Given the description of an element on the screen output the (x, y) to click on. 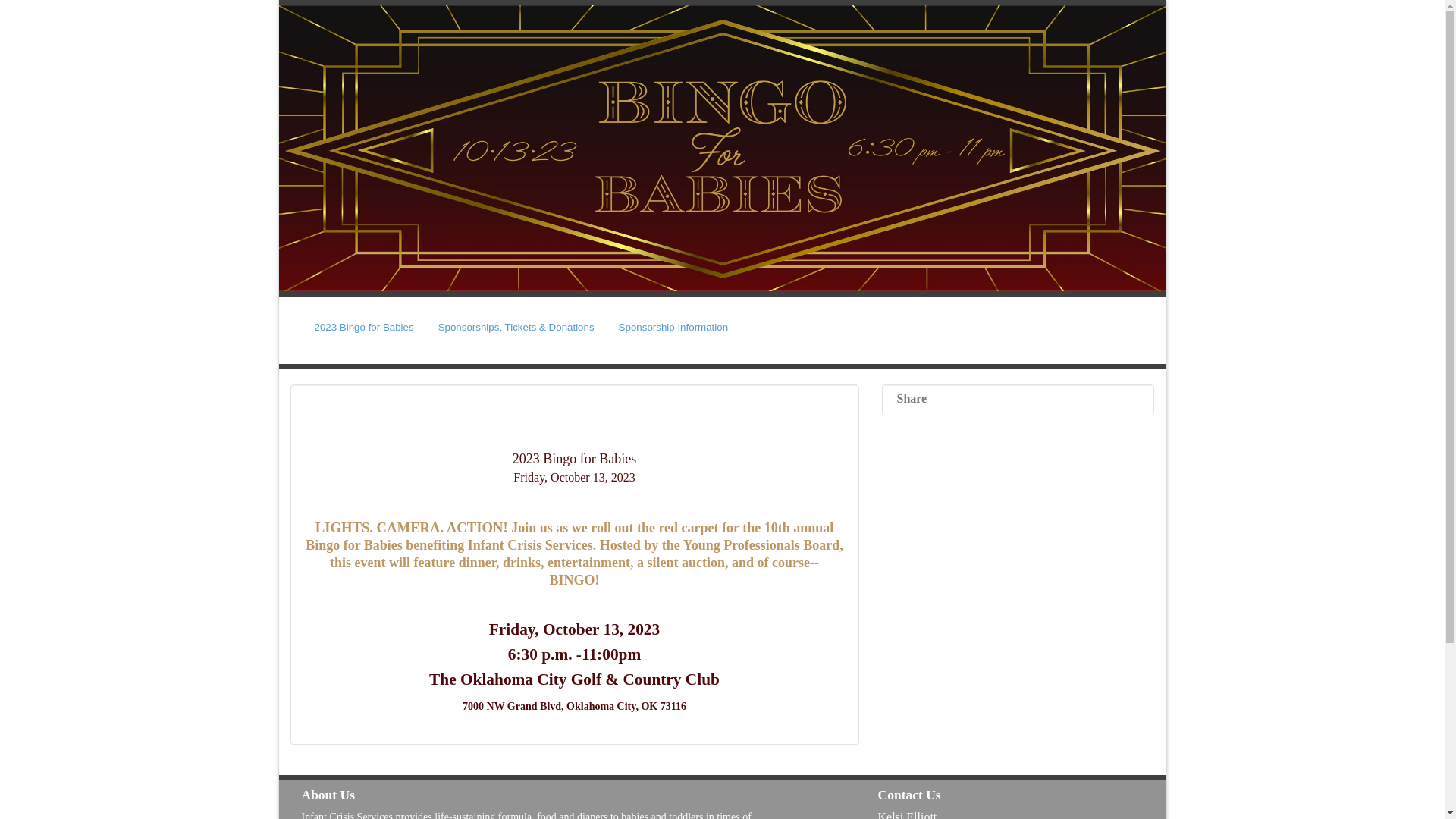
Sponsorship Information (673, 327)
2023 Bingo for Babies (363, 327)
